Given the description of an element on the screen output the (x, y) to click on. 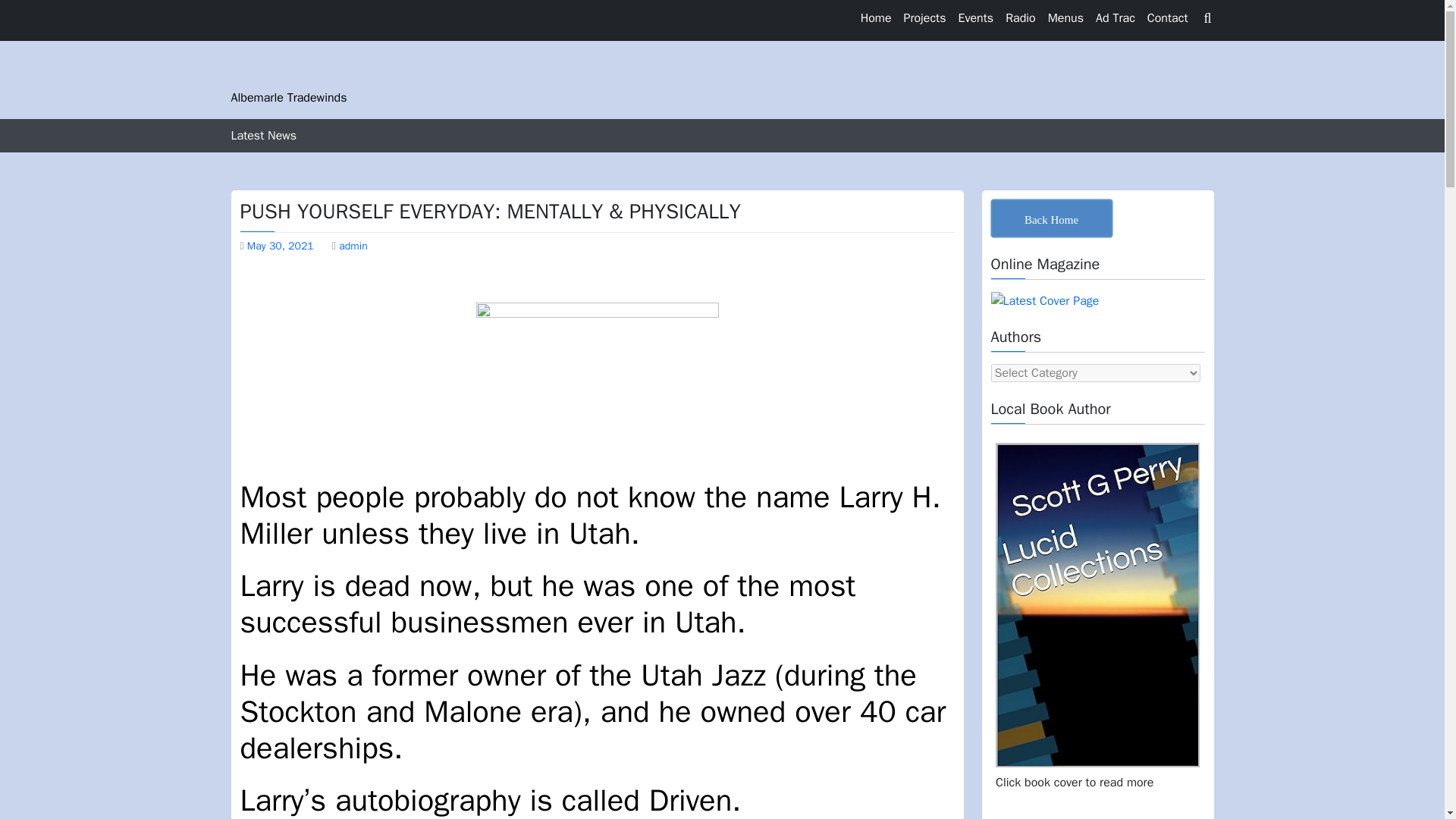
Contact (1167, 18)
admin (352, 245)
Projects (925, 18)
Radio (1020, 18)
Events (975, 18)
Back to Home (1051, 218)
Search (1112, 76)
Home (876, 18)
Back Home (1051, 218)
Menus (1065, 18)
